Given the description of an element on the screen output the (x, y) to click on. 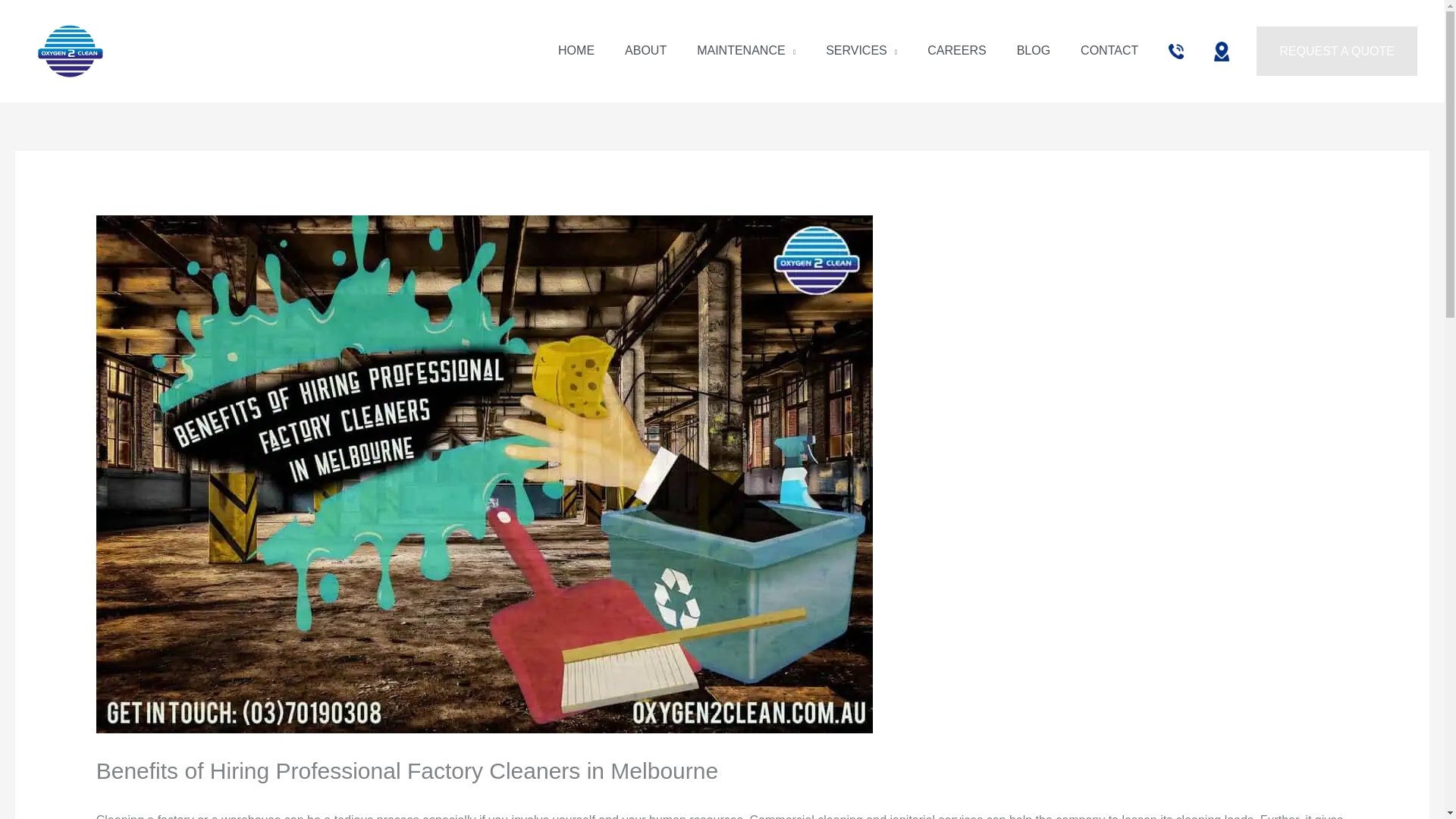
MAINTENANCE (745, 50)
BLOG (1033, 50)
ABOUT (645, 50)
CONTACT (1109, 50)
HOME (576, 50)
SERVICES (861, 50)
CAREERS (956, 50)
REQUEST A QUOTE (1336, 51)
